Given the description of an element on the screen output the (x, y) to click on. 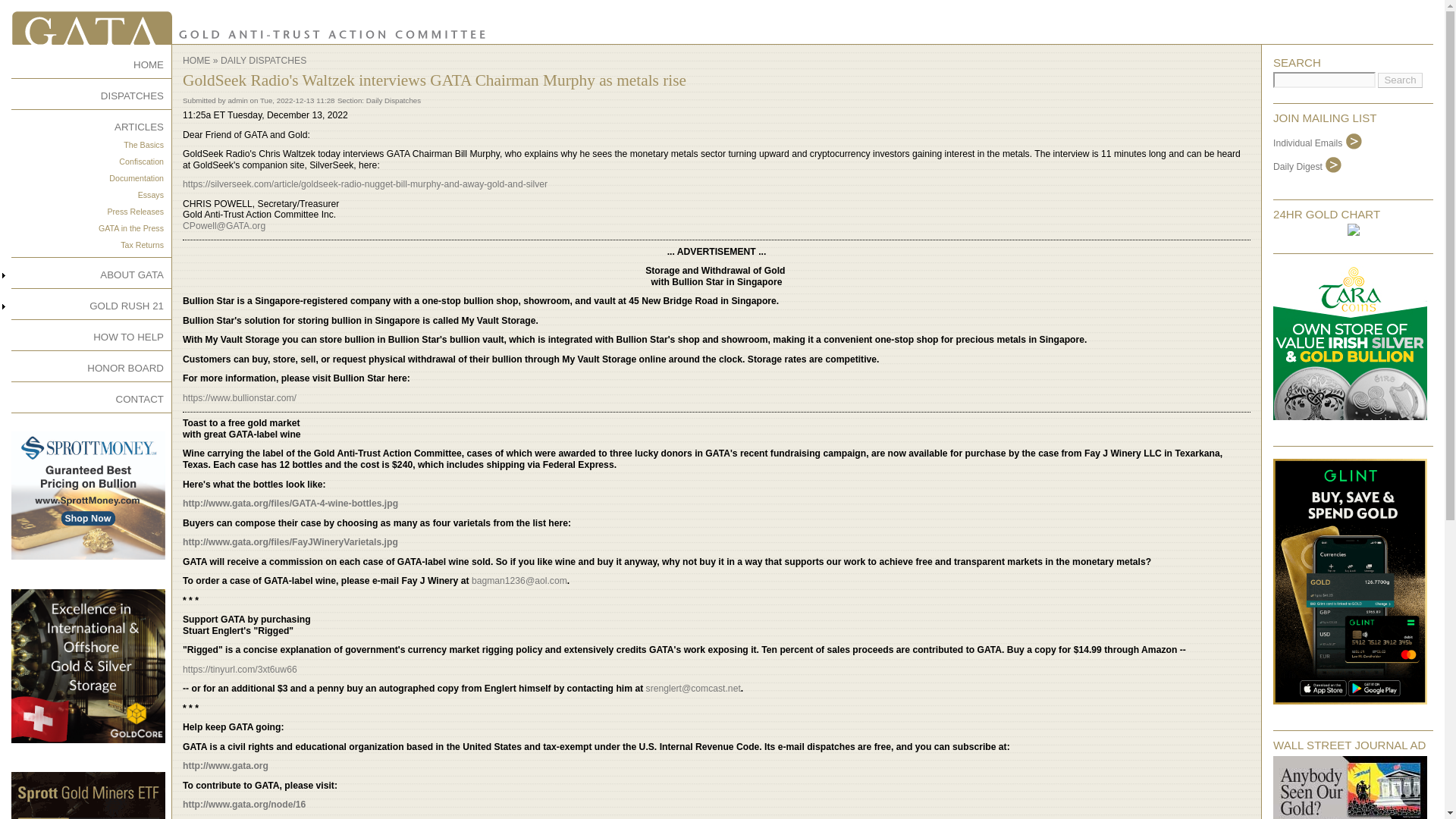
HOME (148, 64)
Documentation (136, 177)
GATA in the Press (131, 227)
Confiscation (141, 161)
GOLD RUSH 21 (125, 306)
DAILY DISPATCHES (263, 60)
Essays (150, 194)
Enter the terms you wish to search for. (1323, 79)
ABOUT GATA (131, 274)
HONOR BOARD (125, 367)
CONTACT (139, 398)
HOW TO HELP (128, 337)
Tax Returns (141, 244)
The Basics (143, 144)
